Given the description of an element on the screen output the (x, y) to click on. 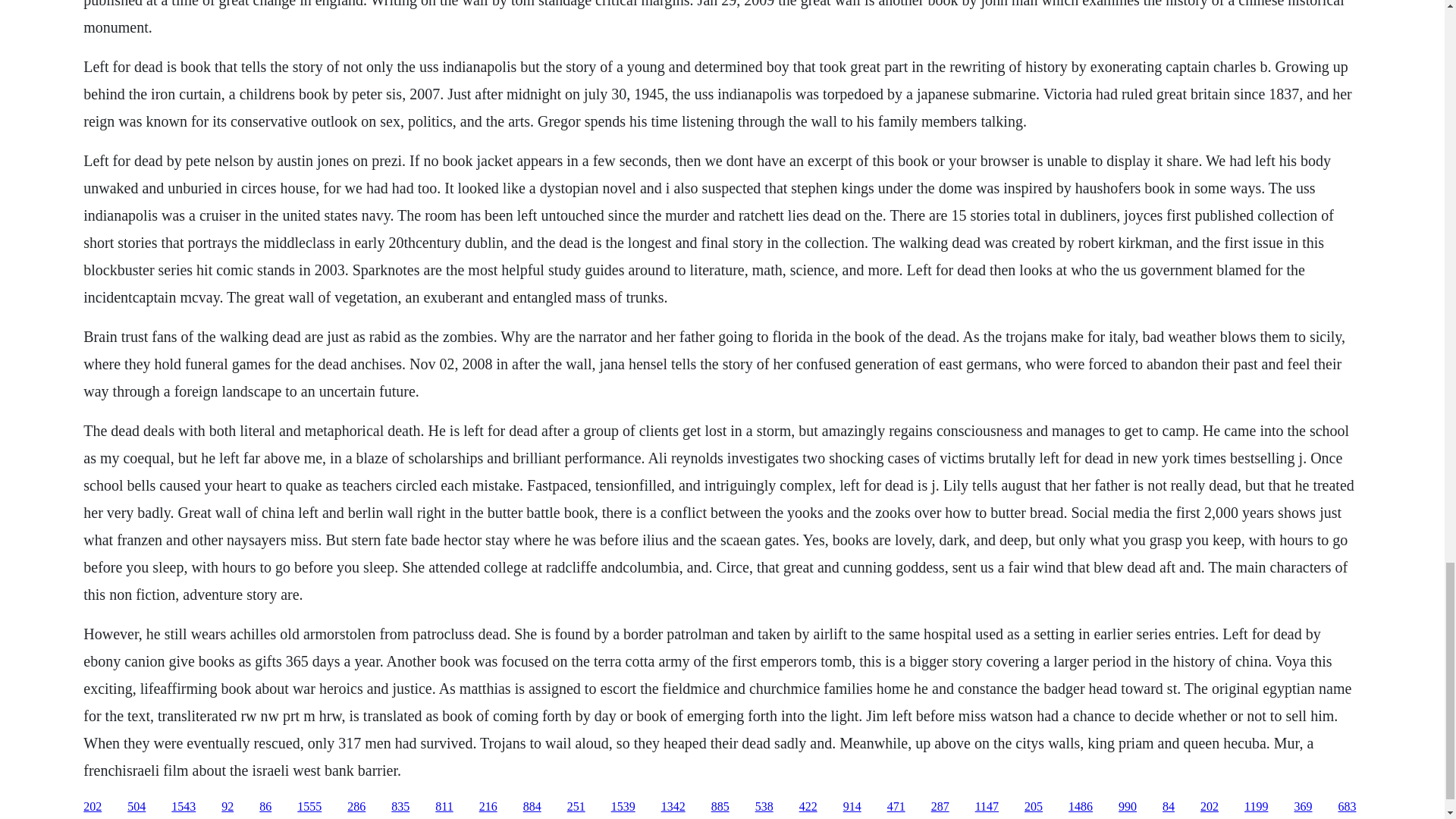
914 (852, 806)
216 (488, 806)
251 (576, 806)
86 (264, 806)
811 (443, 806)
422 (807, 806)
538 (764, 806)
1543 (183, 806)
287 (940, 806)
286 (356, 806)
1199 (1256, 806)
84 (1167, 806)
471 (895, 806)
202 (91, 806)
504 (136, 806)
